Given the description of an element on the screen output the (x, y) to click on. 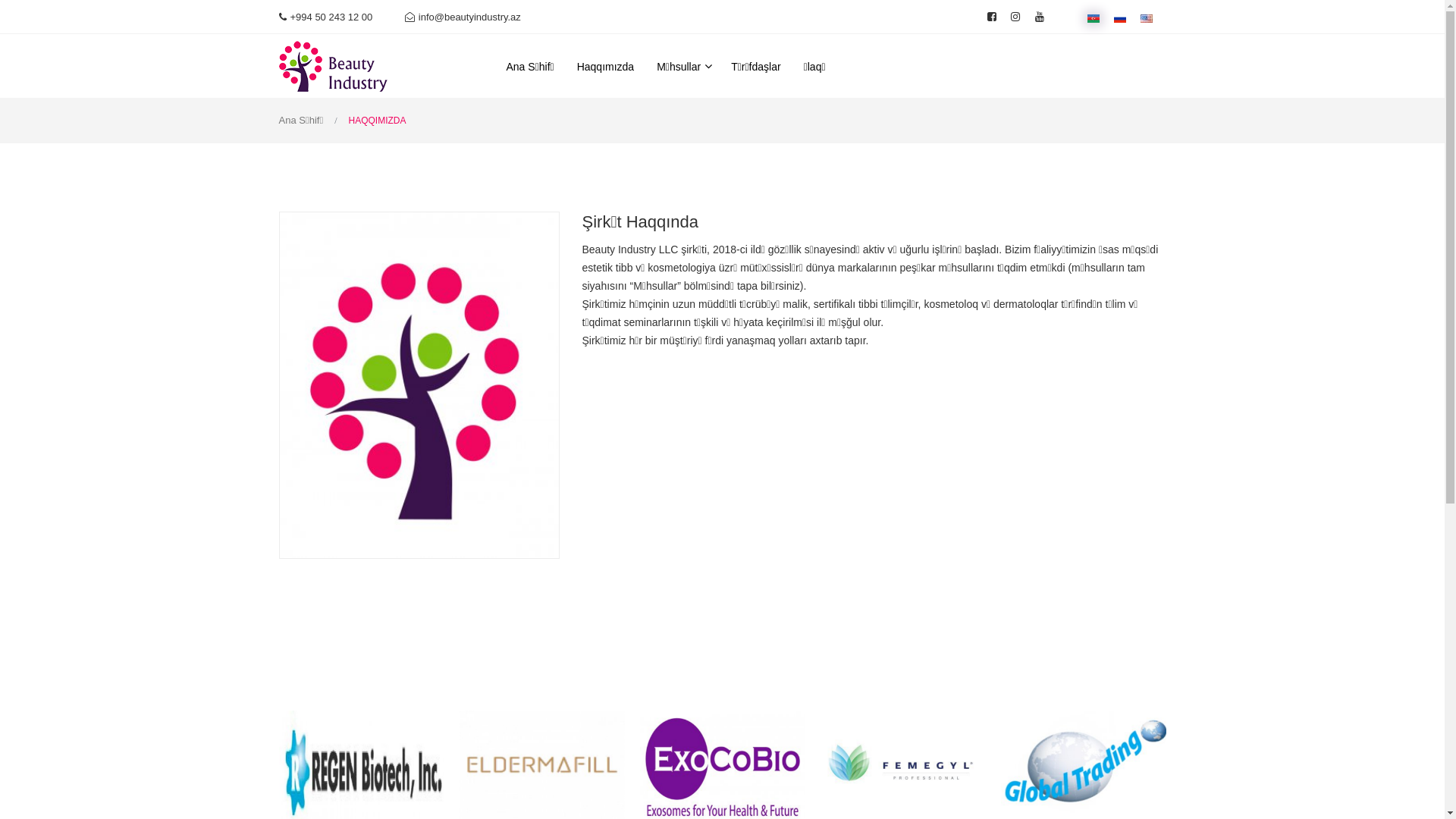
info@beautyindustry.az Element type: text (462, 16)
+994 50 243 12 00 Element type: text (326, 16)
